Given the description of an element on the screen output the (x, y) to click on. 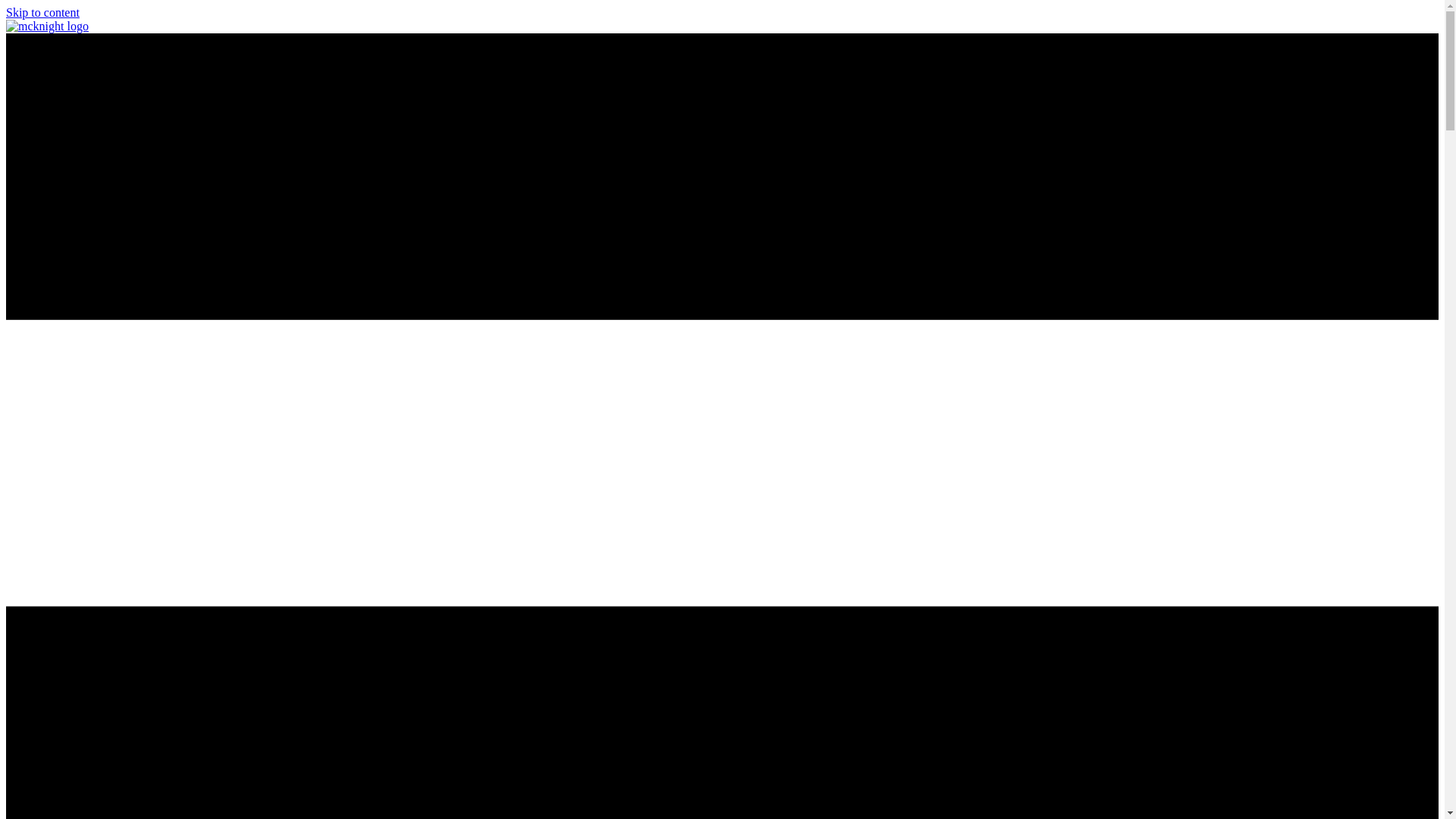
Skip to content (42, 11)
mcknight logo - resized2 (46, 26)
